Given the description of an element on the screen output the (x, y) to click on. 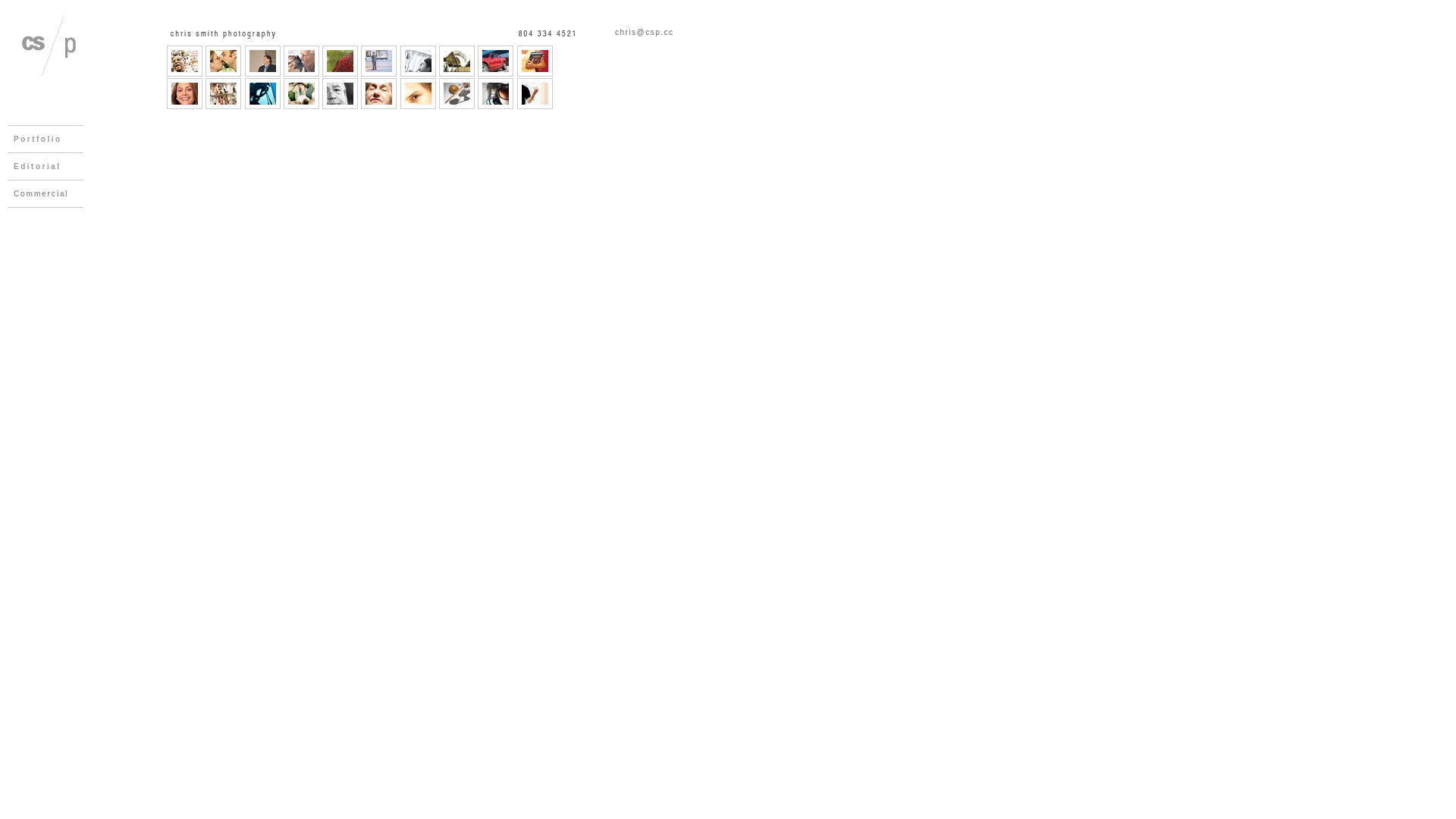
Editorial Element type: text (48, 166)
chris@csp.cc Element type: text (644, 32)
Portfolio Element type: text (48, 138)
